Given the description of an element on the screen output the (x, y) to click on. 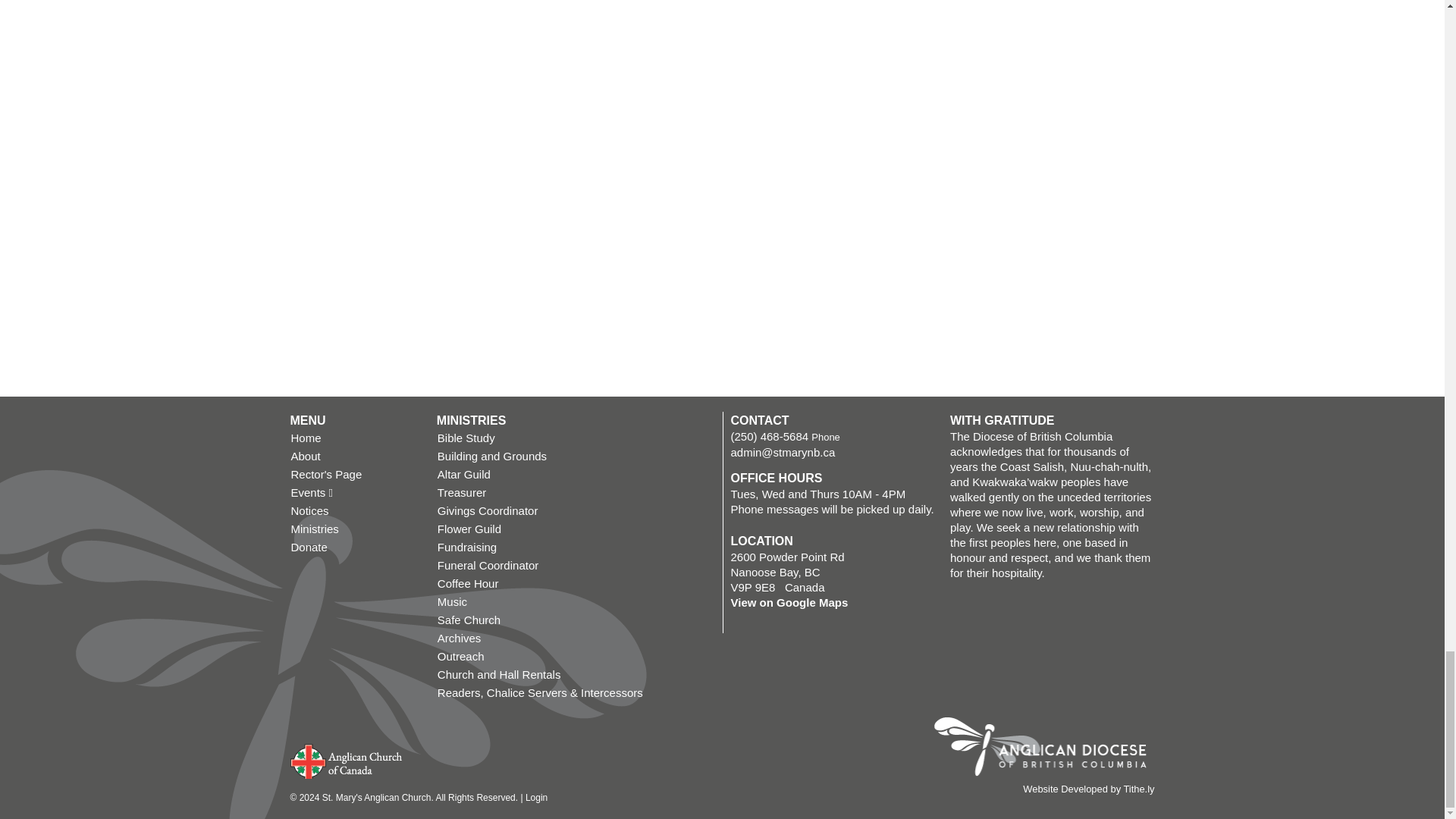
Donate (354, 547)
MINISTRIES (471, 420)
Events (354, 493)
About (354, 456)
Home (354, 438)
Bible Study (575, 438)
Rector's Page (354, 475)
Notices (354, 511)
Ministries (354, 529)
